Given the description of an element on the screen output the (x, y) to click on. 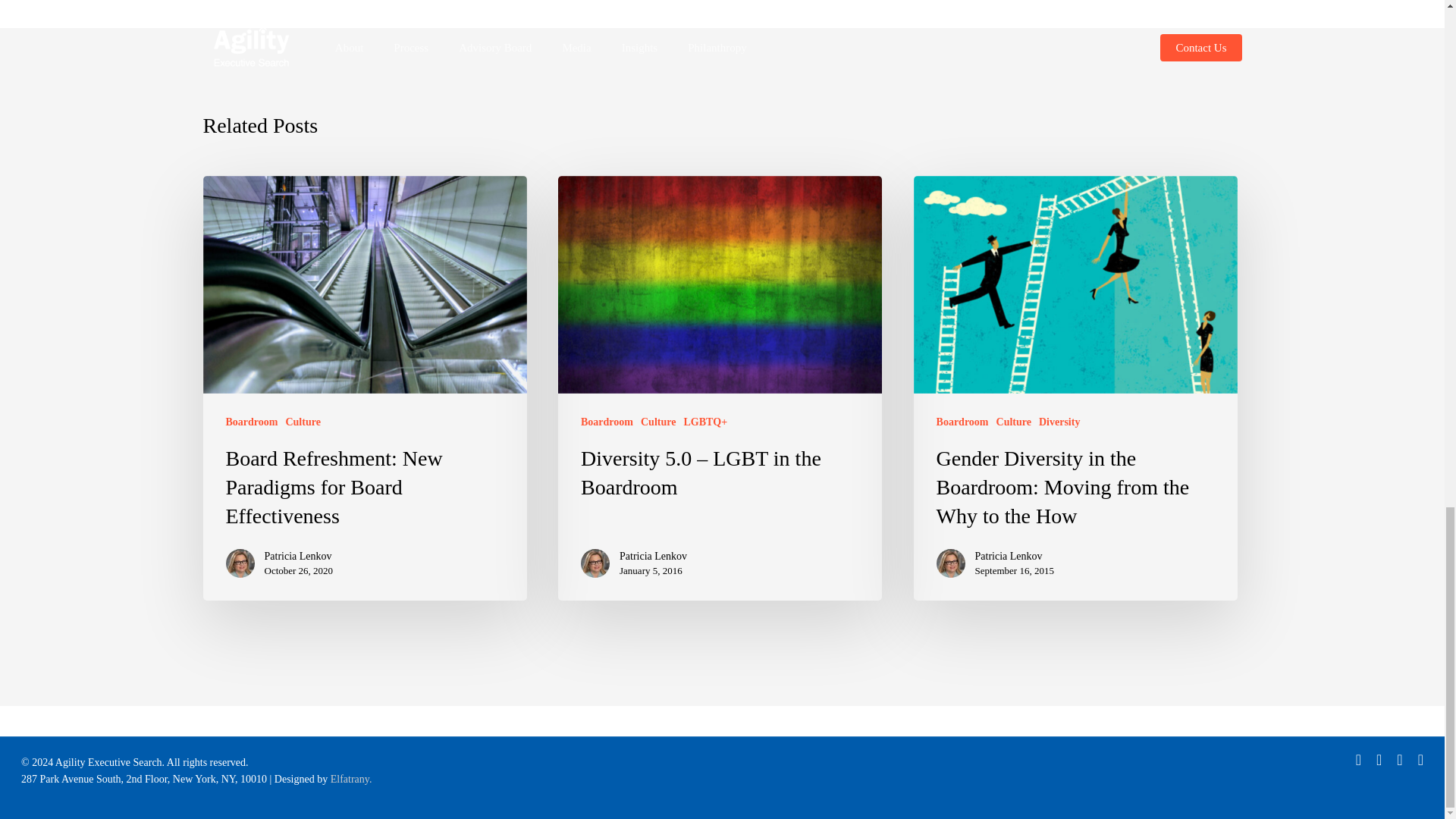
Culture (302, 421)
Culture (1012, 421)
Boardroom (606, 421)
Boardroom (251, 421)
Elfatrany. (351, 778)
Boardroom (962, 421)
Diversity (1059, 421)
Culture (657, 421)
Patricia Lenkov (298, 556)
Patricia Lenkov (653, 556)
Patricia Lenkov (1014, 556)
